Given the description of an element on the screen output the (x, y) to click on. 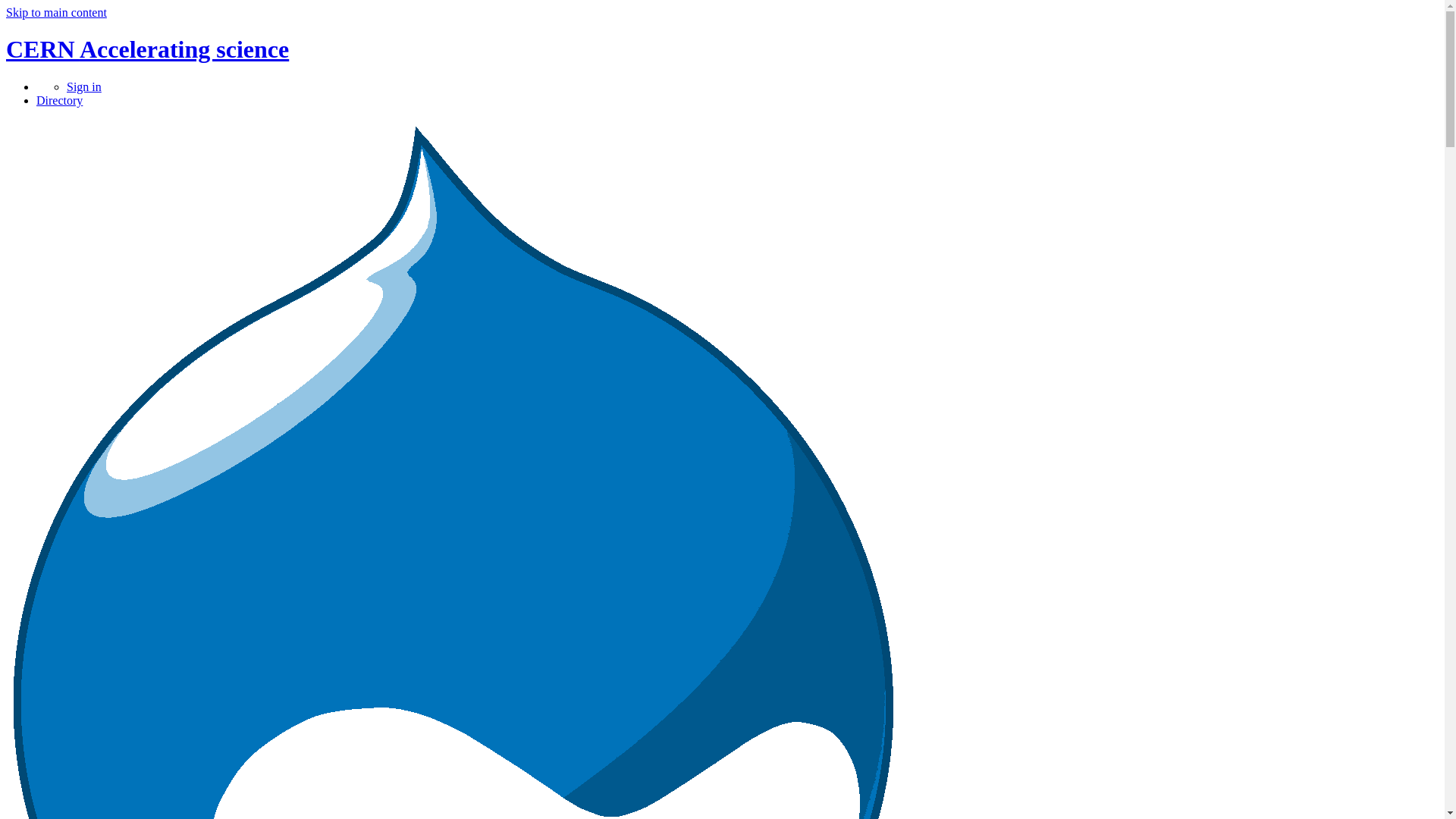
Sign in Element type: text (83, 86)
Skip to main content Element type: text (56, 12)
CERN Accelerating science Element type: text (147, 48)
Directory Element type: text (59, 100)
